Given the description of an element on the screen output the (x, y) to click on. 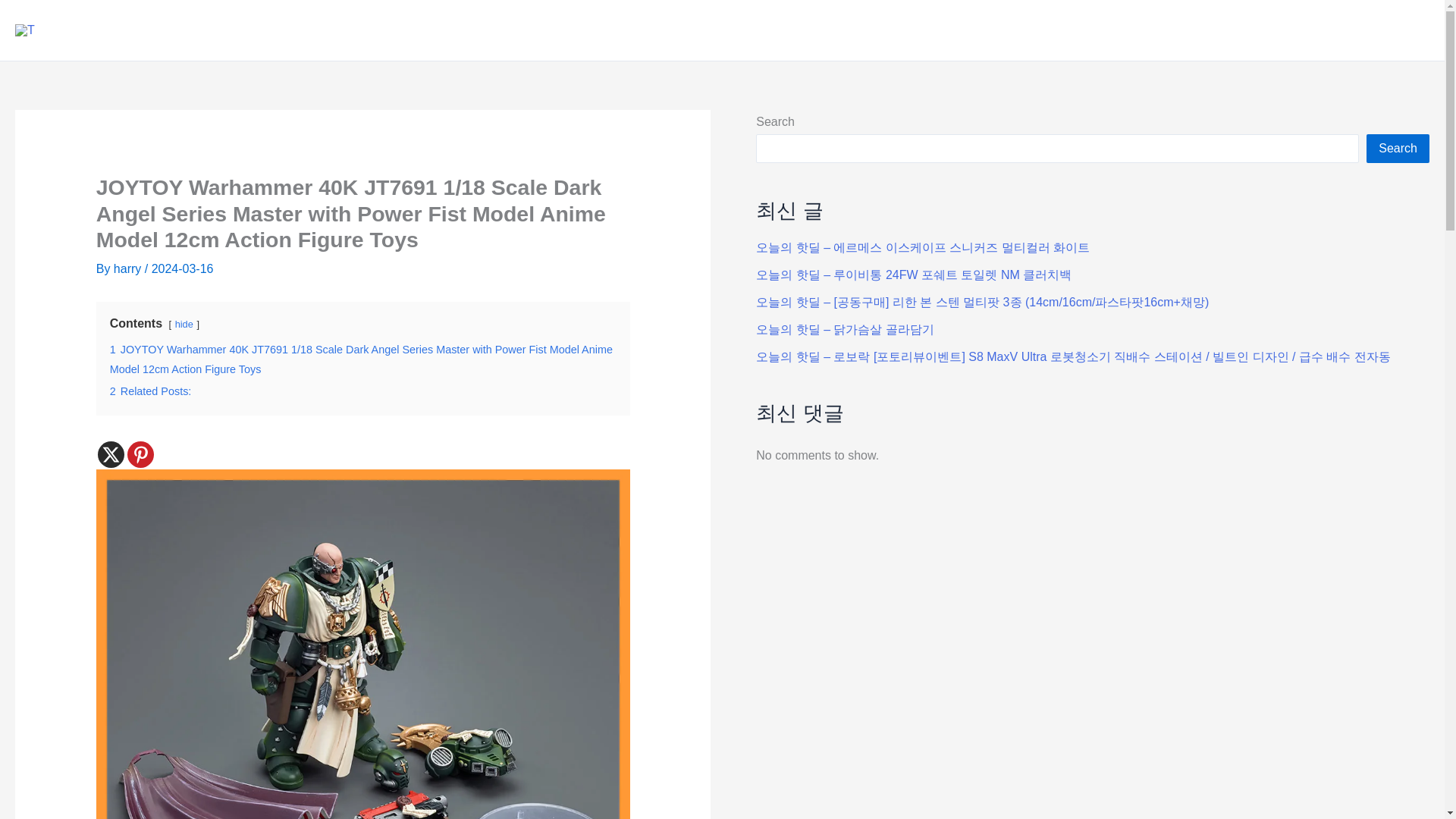
harry (128, 268)
X (110, 454)
hide (183, 324)
Pinterest (141, 454)
2 Related Posts: (151, 390)
View all posts by harry (128, 268)
Search (1398, 148)
